Given the description of an element on the screen output the (x, y) to click on. 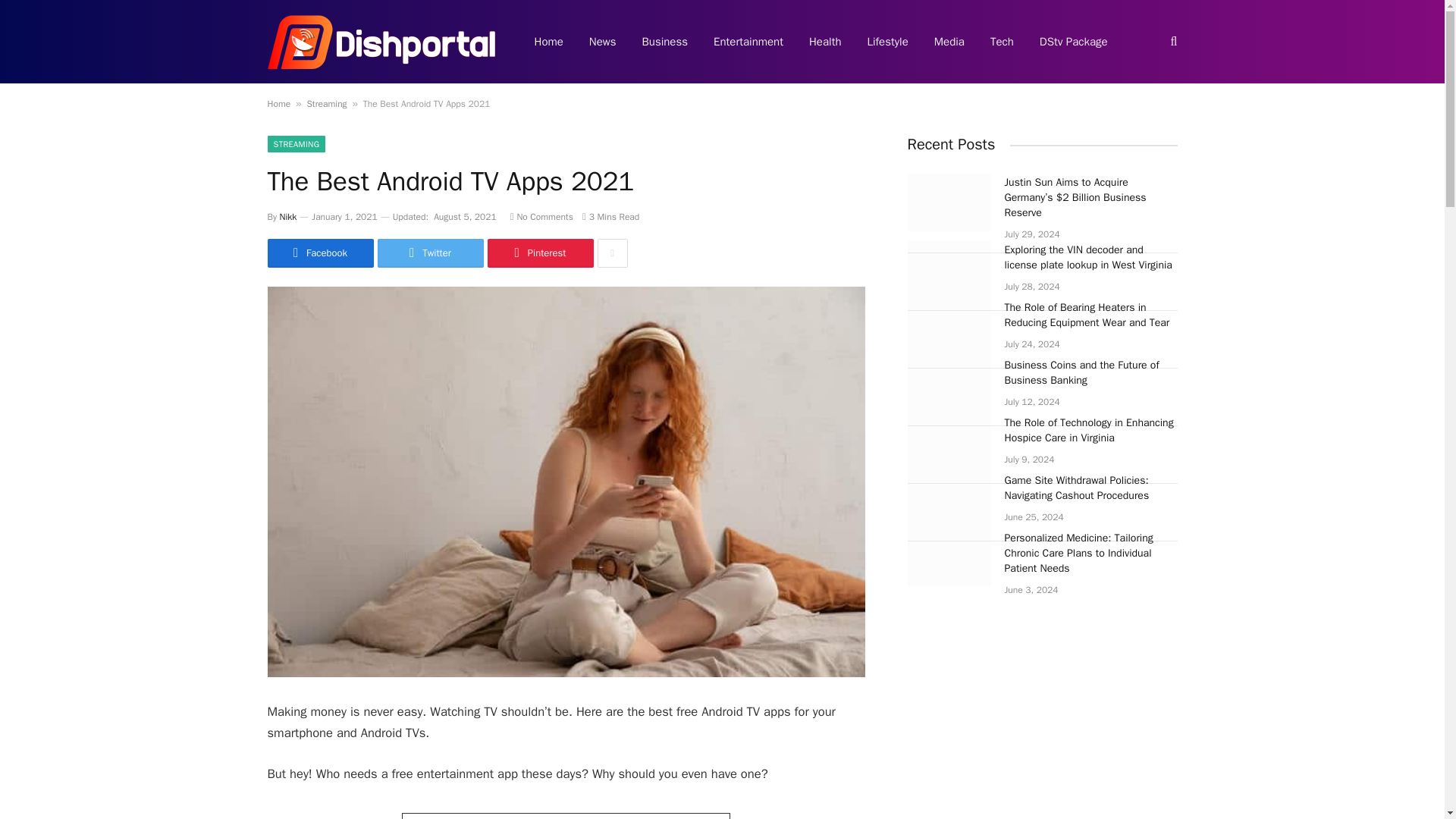
Pinterest (539, 253)
STREAMING (295, 143)
Facebook (319, 253)
Dish Portal (380, 41)
Nikk (288, 216)
DStv Package (1073, 41)
Share on Pinterest (539, 253)
No Comments (542, 216)
Show More Social Sharing (611, 253)
Posts by Nikk (288, 216)
Streaming (325, 103)
Twitter (430, 253)
Home (277, 103)
Share on Facebook (319, 253)
